Given the description of an element on the screen output the (x, y) to click on. 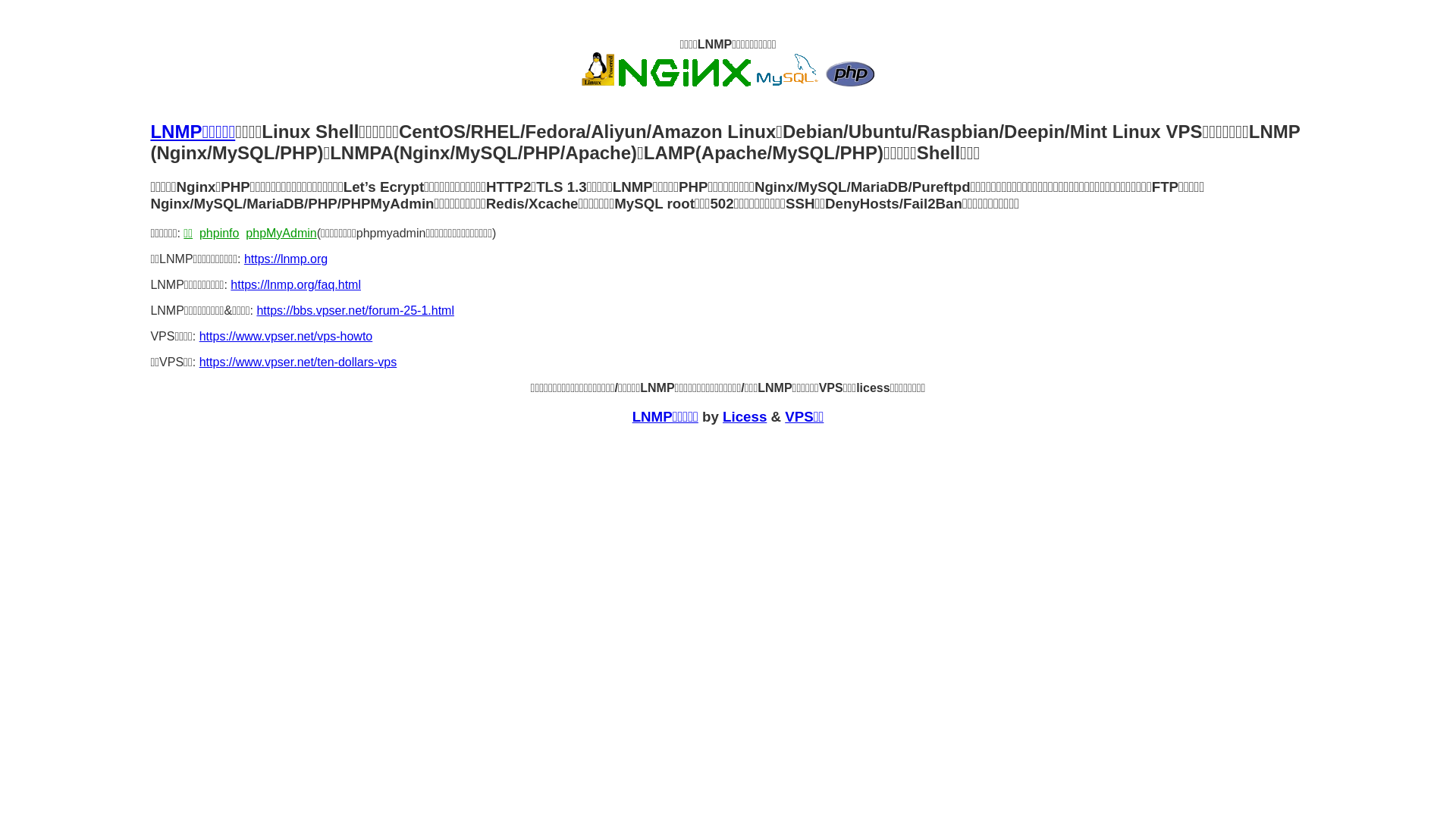
phpMyAdmin Element type: text (280, 232)
https://www.vpser.net/ten-dollars-vps Element type: text (298, 361)
https://bbs.vpser.net/forum-25-1.html Element type: text (355, 310)
https://lnmp.org/faq.html Element type: text (295, 284)
https://lnmp.org Element type: text (285, 258)
phpinfo Element type: text (219, 232)
Licess Element type: text (744, 416)
https://www.vpser.net/vps-howto Element type: text (286, 335)
